Given the description of an element on the screen output the (x, y) to click on. 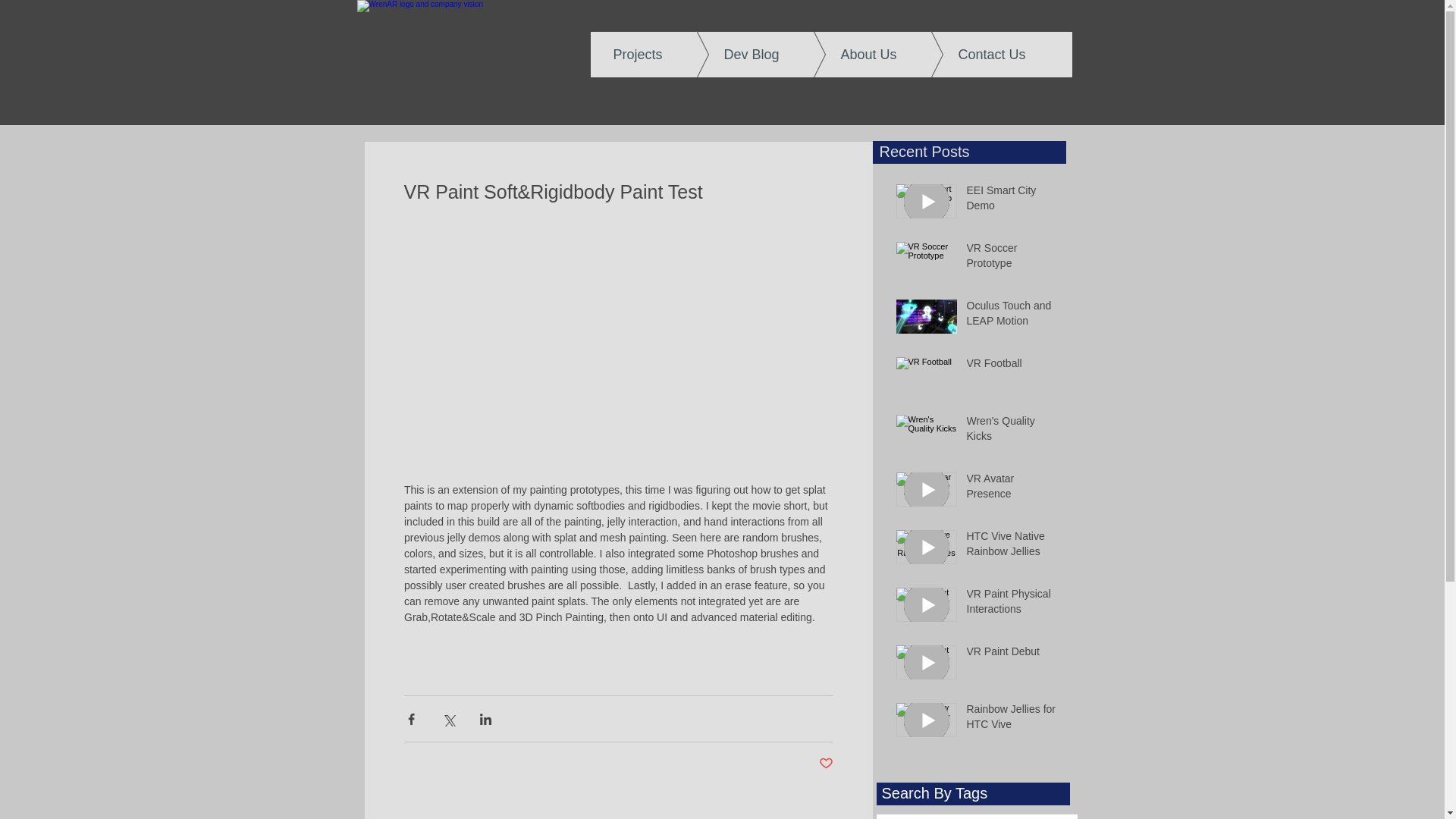
Wren's Quality Kicks (1012, 431)
Dev Blog (739, 53)
Contact Us (980, 53)
Post not marked as liked (825, 763)
Projects (648, 53)
Oculus Touch and LEAP Motion (1012, 316)
VR Avatar Presence (1012, 488)
VR Soccer Prototype (1012, 258)
VR Paint Physical Interactions (1012, 604)
Rainbow Jellies for HTC Vive (1012, 719)
HTC Vive Native Rainbow Jellies (1012, 547)
VR Paint Debut (1012, 654)
About Us (856, 53)
VR Football (1012, 366)
EEI Smart City Demo (1012, 201)
